Given the description of an element on the screen output the (x, y) to click on. 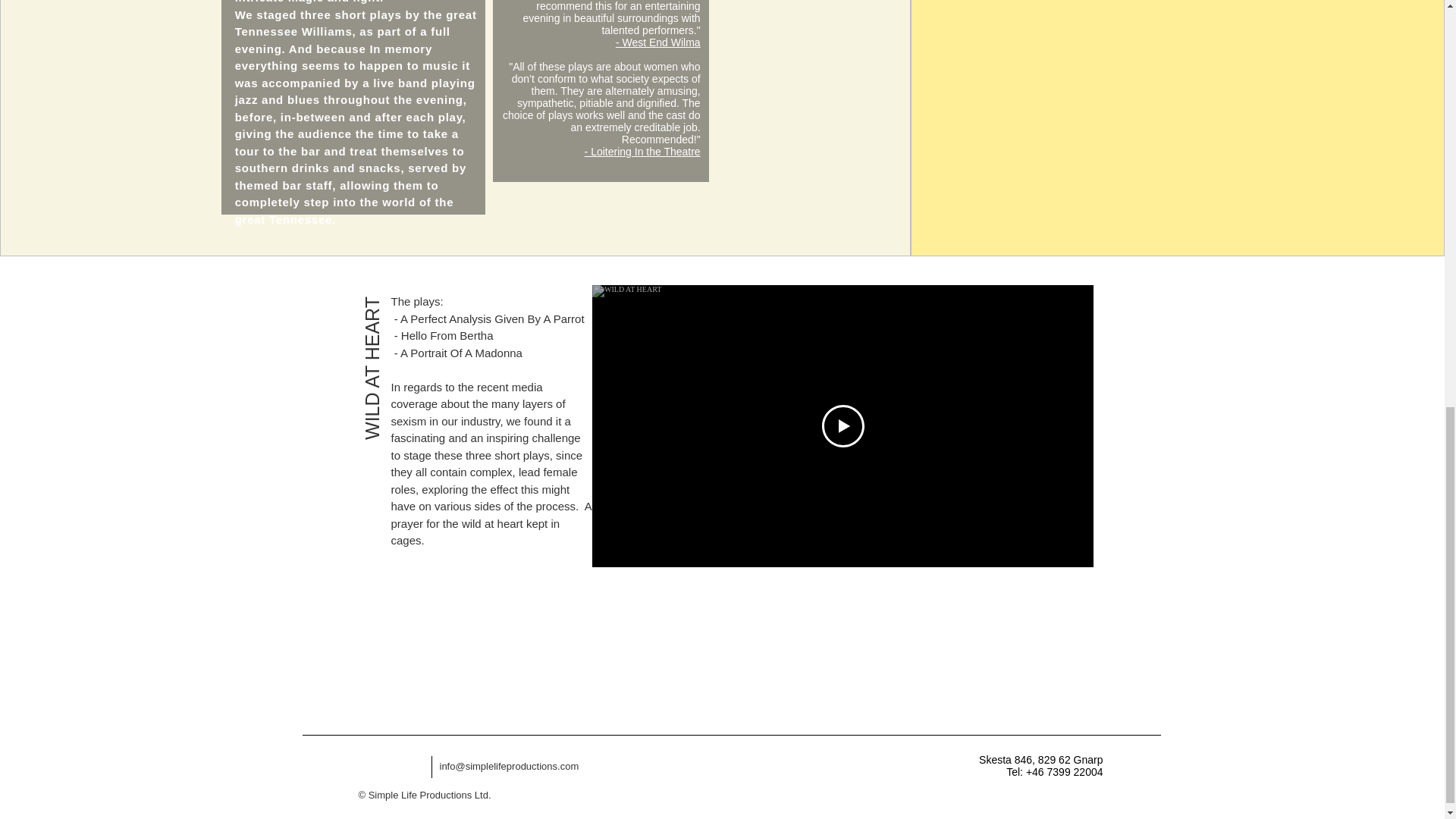
- Loitering In the Theatre (642, 151)
- West End Wilma (657, 42)
